Given the description of an element on the screen output the (x, y) to click on. 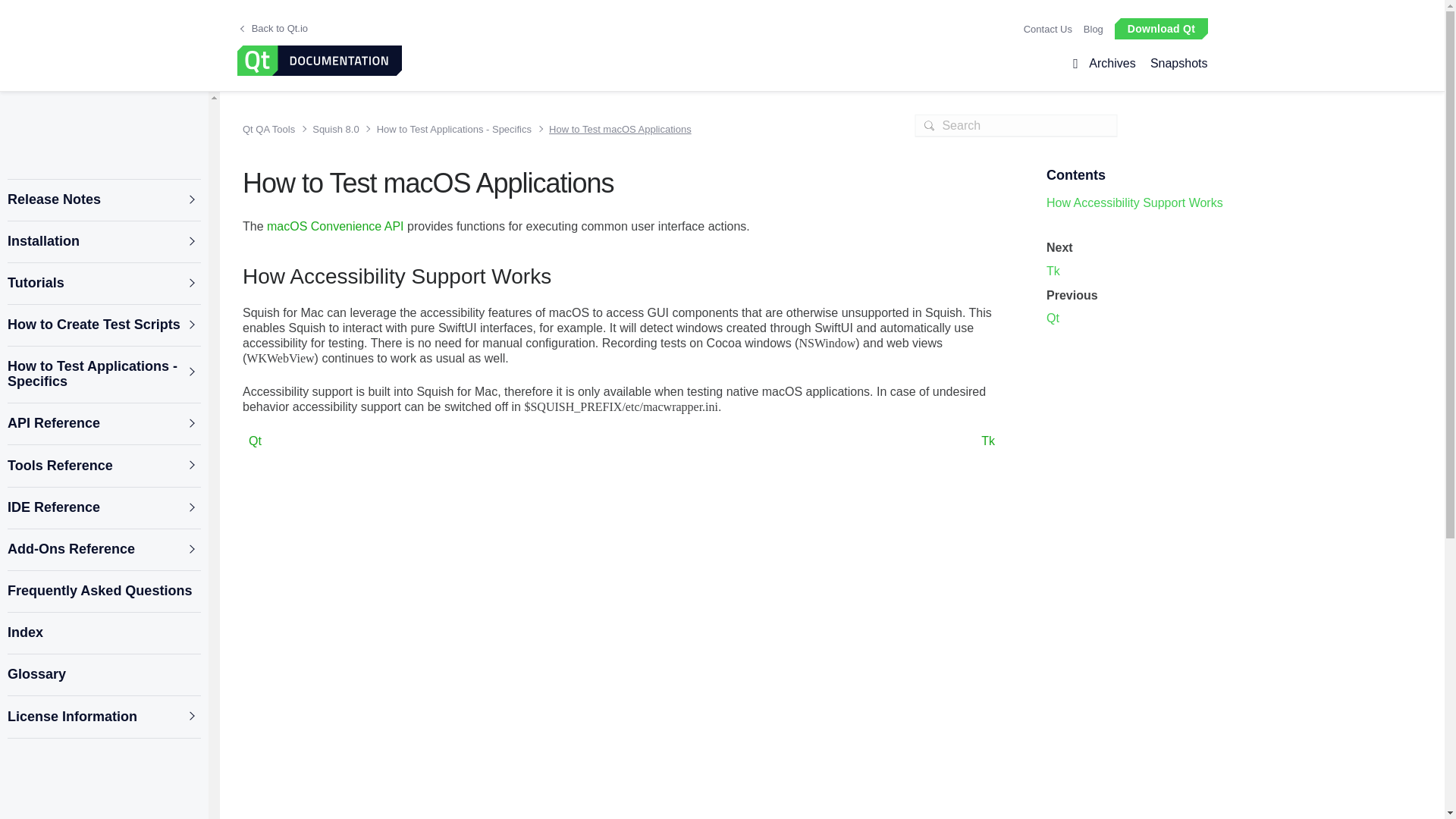
Release Notes (103, 199)
Installation (103, 241)
Blog (1093, 28)
Snapshots (1174, 63)
Back to Qt.io (273, 28)
Tutorials (103, 283)
Archives (1111, 63)
Contact Us (1047, 28)
Download Qt (1160, 27)
